Given the description of an element on the screen output the (x, y) to click on. 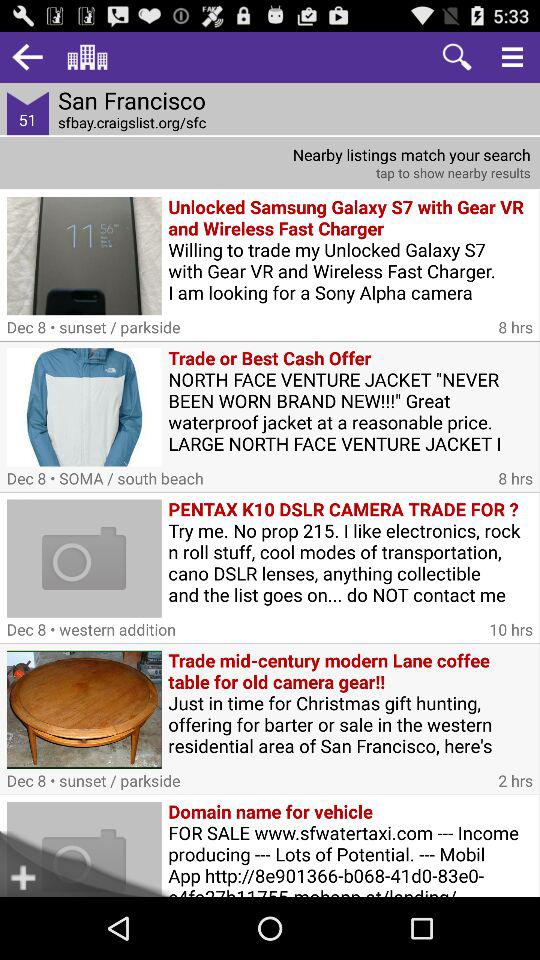
expand search (512, 56)
